Given the description of an element on the screen output the (x, y) to click on. 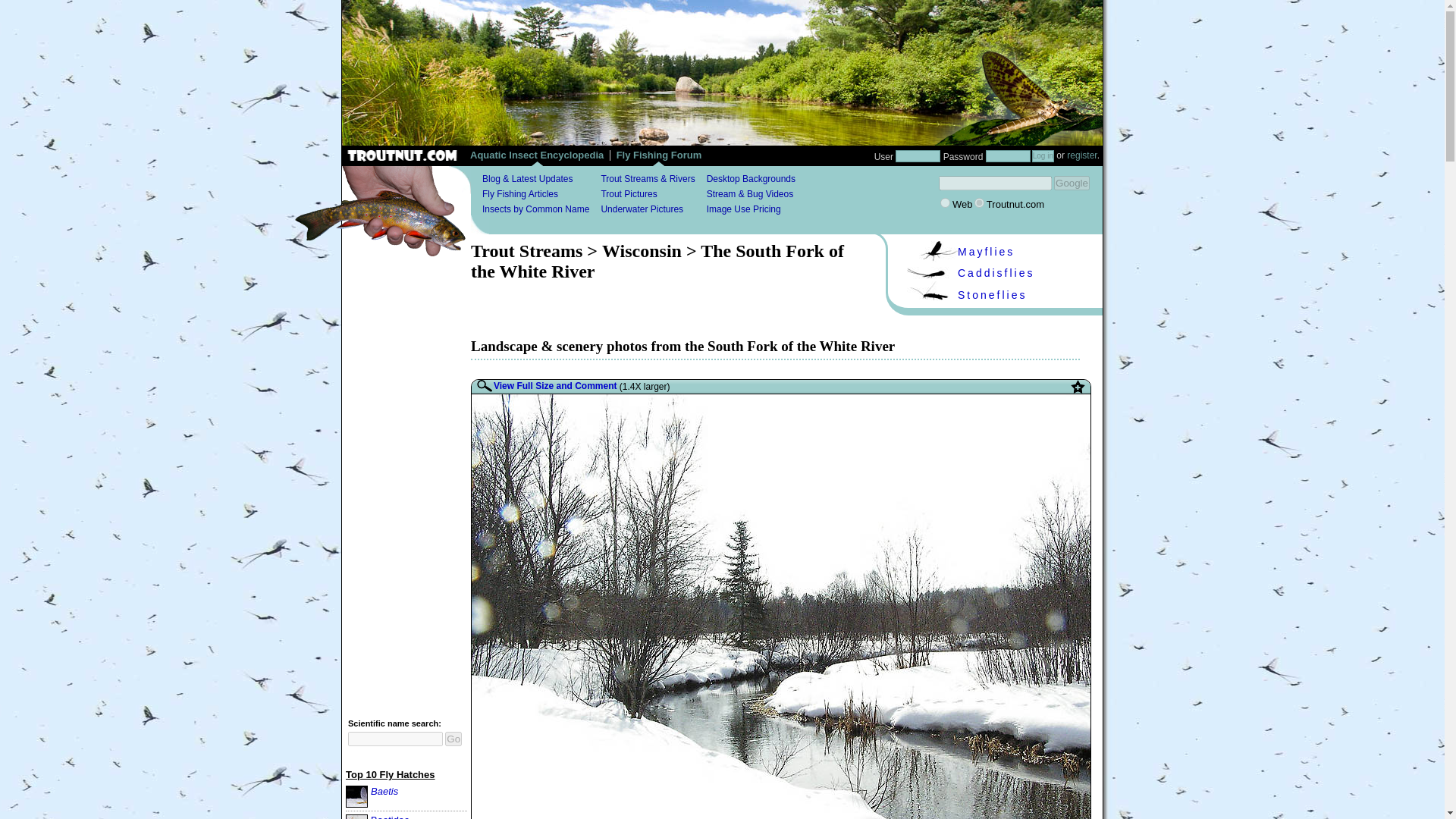
Desktop Backgrounds (750, 178)
Fly Fishing Forum (658, 157)
Trout Streams (526, 250)
Insects by Common Name (535, 208)
Underwater Pictures (640, 208)
Underwater pictures of stream insects, trout, and other fish (640, 208)
Fly Fishing Articles (519, 194)
Google (1071, 183)
Log in (1043, 155)
Troutnut.com (979, 203)
Stream insects arranged by their common names (535, 208)
Trout Pictures (627, 194)
Wisconsin (641, 250)
